Given the description of an element on the screen output the (x, y) to click on. 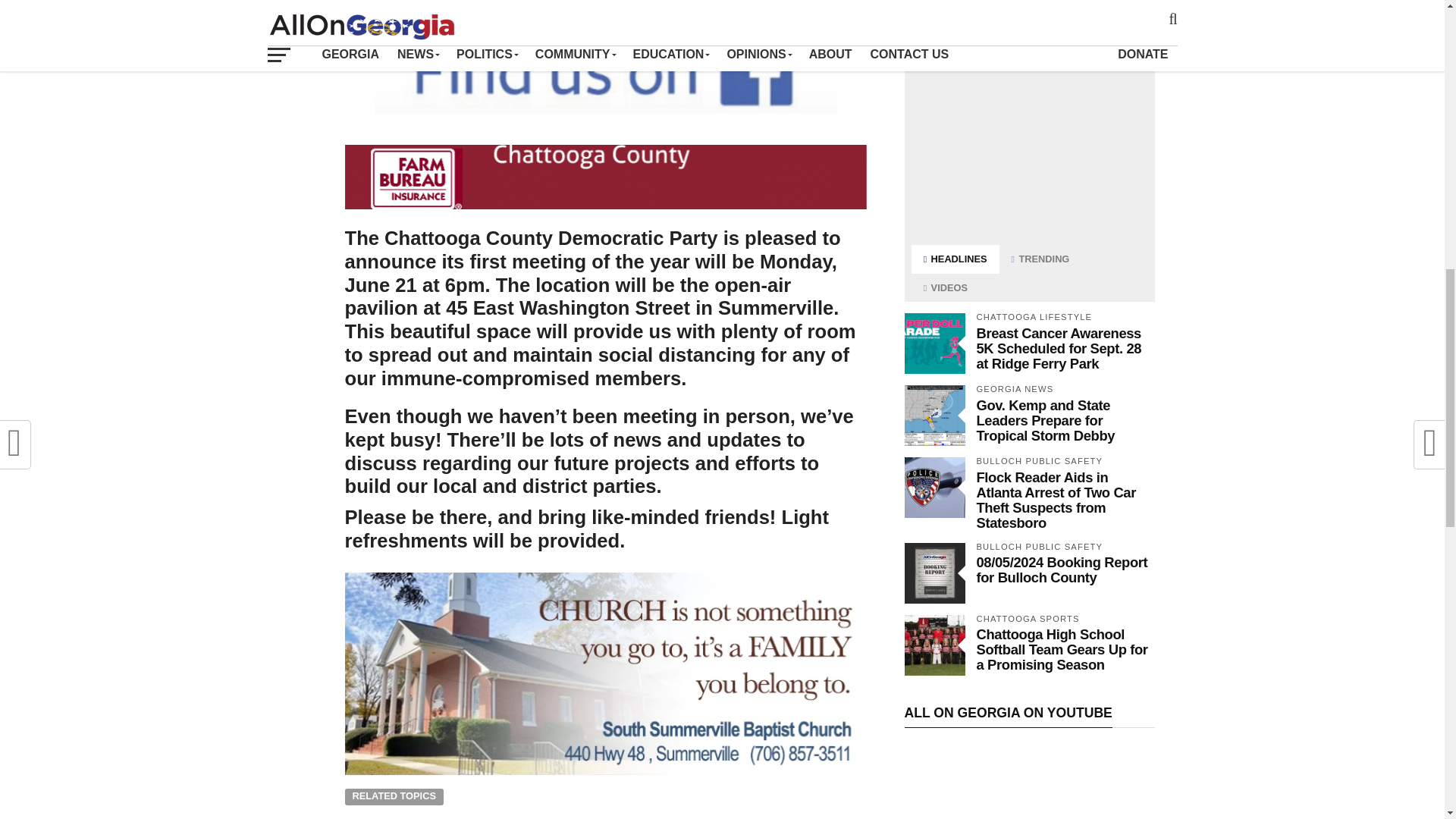
YouTube video player (1029, 780)
Advertisement (1029, 134)
